Given the description of an element on the screen output the (x, y) to click on. 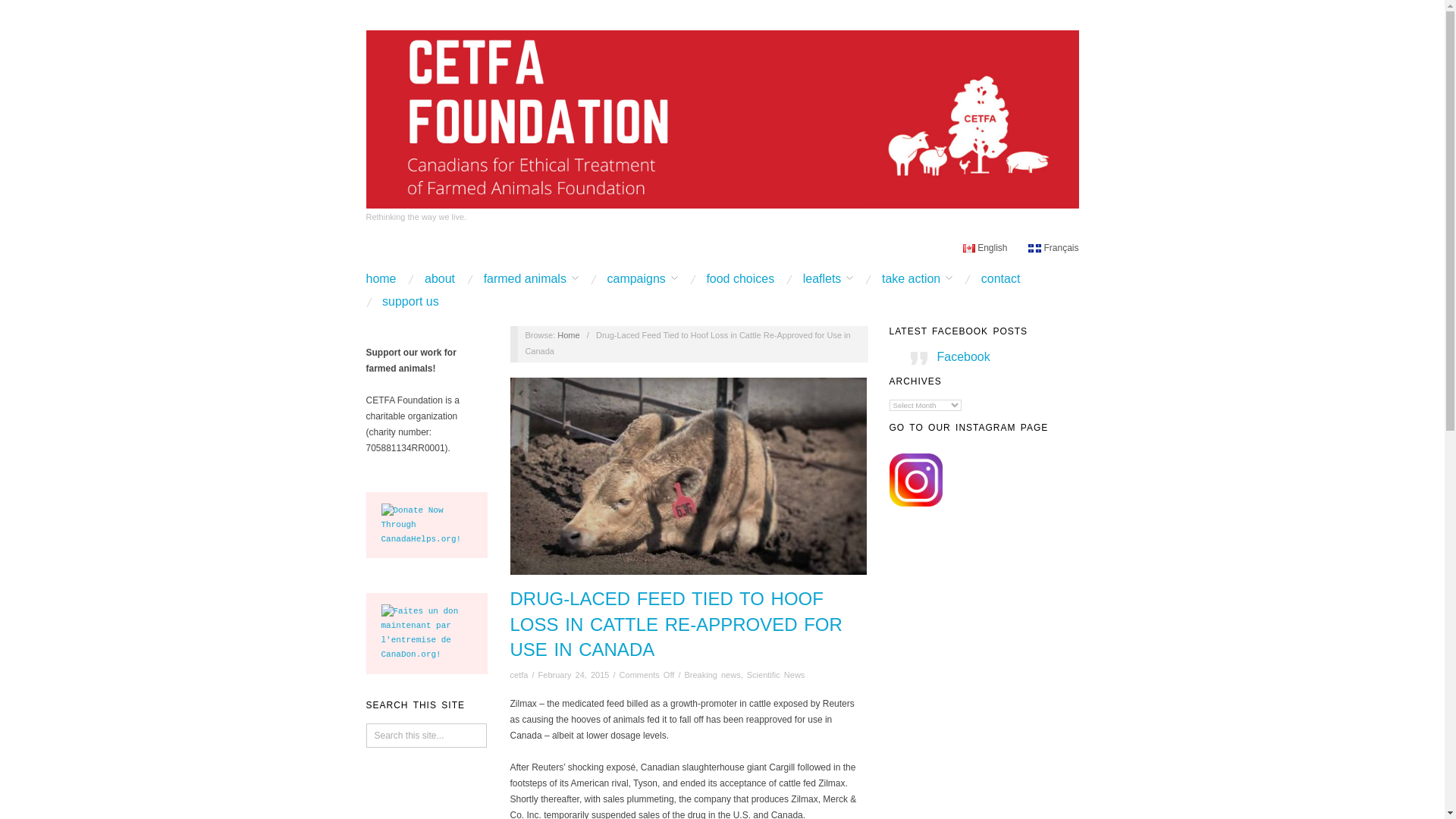
Home (568, 334)
English (984, 247)
about (439, 278)
take action (917, 278)
contact (1000, 278)
Search (24, 10)
February 24, 2015 (574, 674)
Search this site... (425, 735)
Canadians For Ethical Treatment of Farmed Animals (568, 334)
cetfa (519, 674)
Scientific News (775, 674)
campaigns (642, 278)
Posts by cetfa (519, 674)
Breaking news (711, 674)
